Given the description of an element on the screen output the (x, y) to click on. 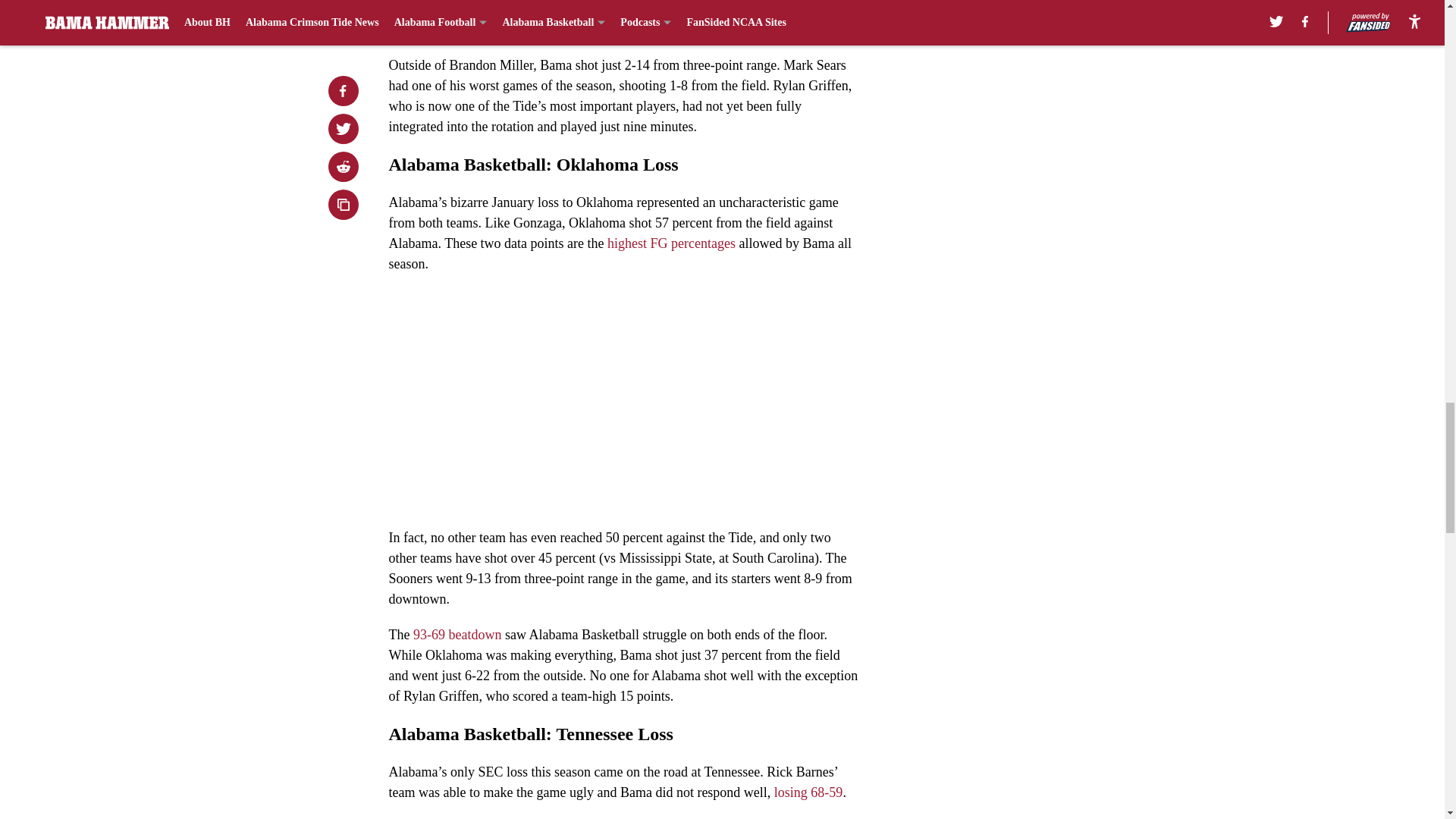
losing 68-59 (808, 792)
93-69 beatdown (456, 634)
highest FG percentages (669, 242)
